Given the description of an element on the screen output the (x, y) to click on. 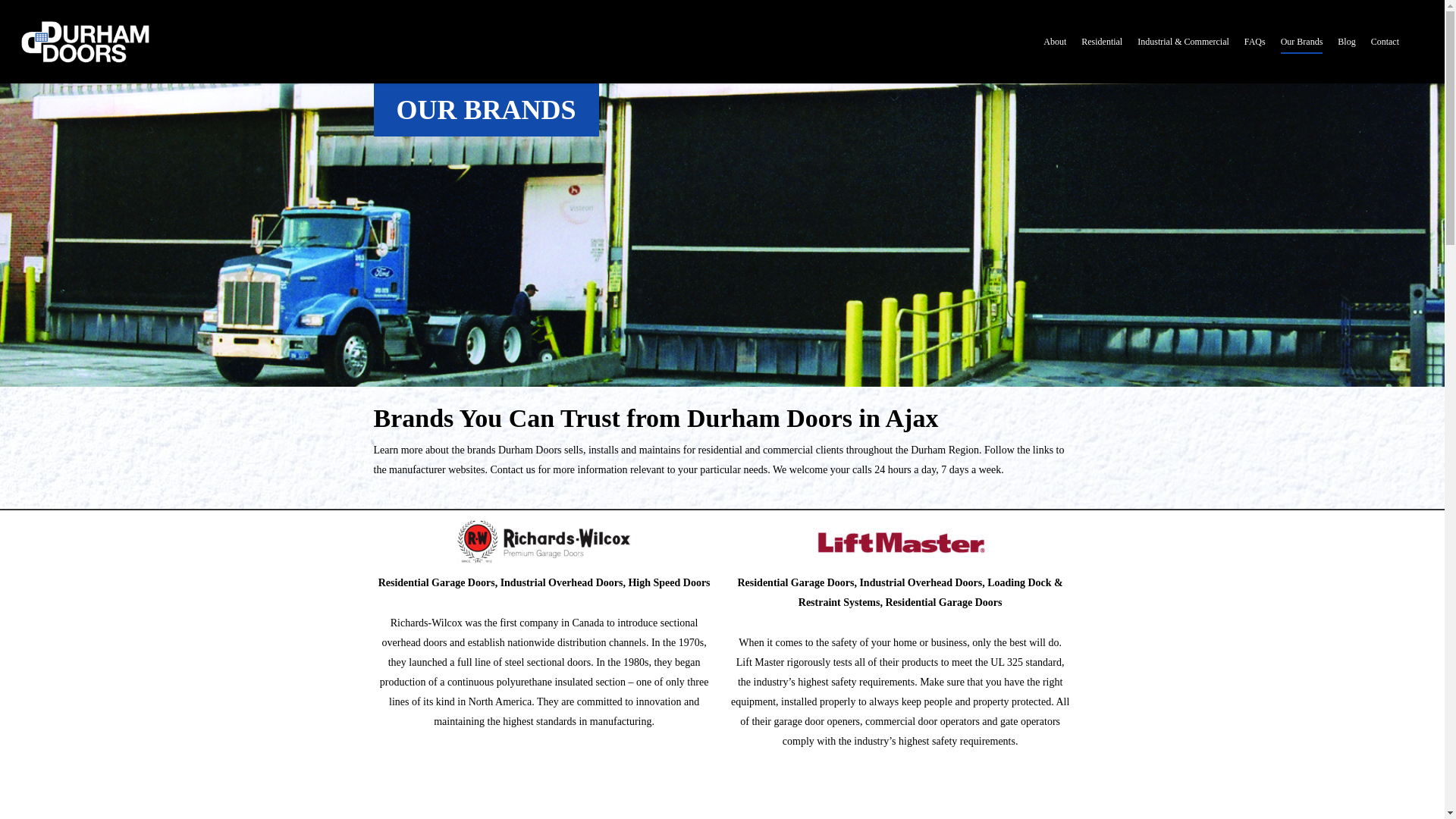
FAQs (1254, 52)
Residential (1101, 52)
Our Brands (1302, 52)
Blog (1346, 52)
Contact (1385, 52)
About (1054, 52)
